Given the description of an element on the screen output the (x, y) to click on. 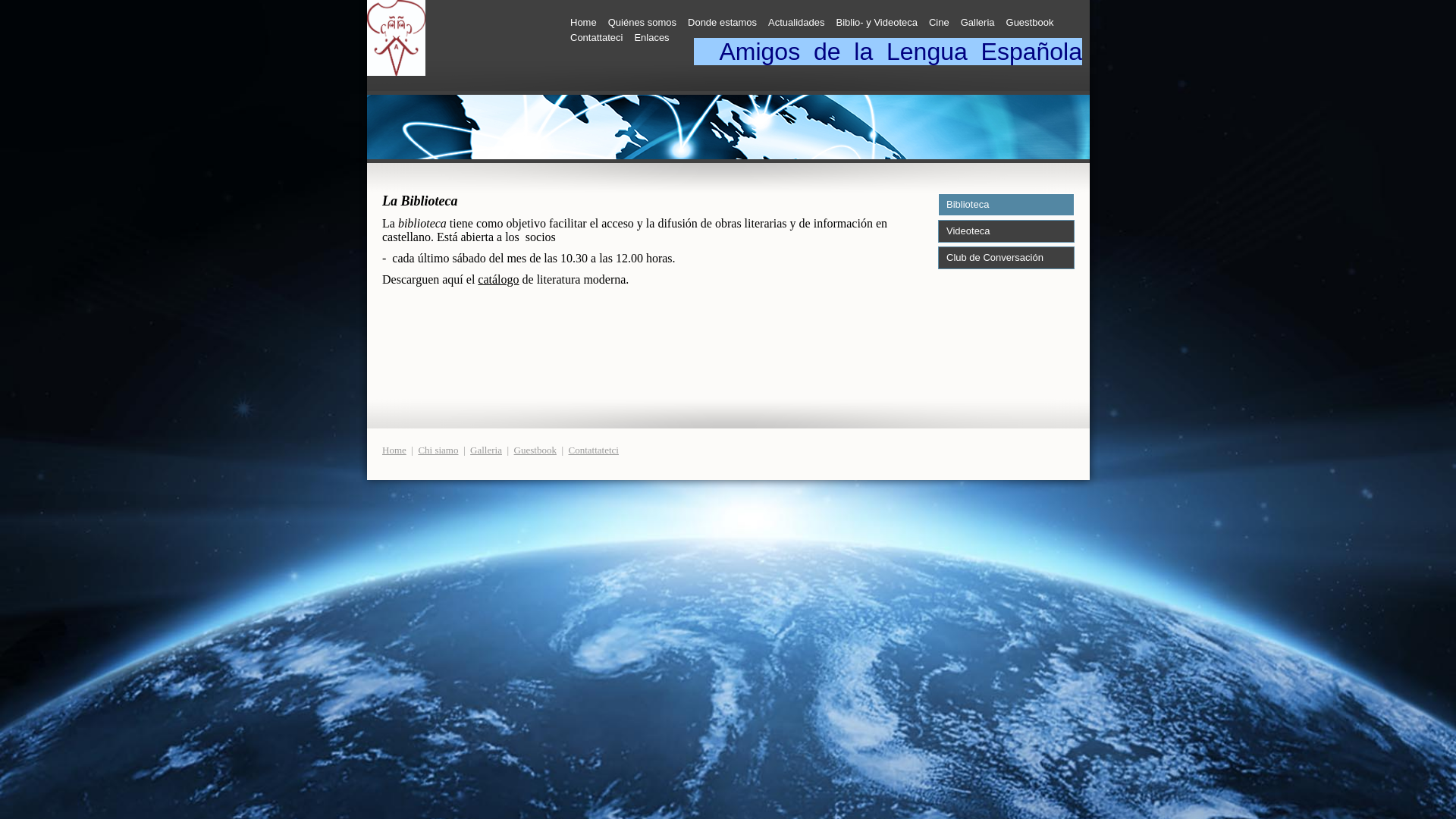
Biblioteca Element type: text (1006, 204)
Actualidades Element type: text (796, 22)
Guestbook Element type: text (1030, 22)
Videoteca Element type: text (1006, 230)
Home Element type: text (583, 22)
Chi siamo Element type: text (437, 449)
Galleria Element type: text (977, 22)
Home Element type: text (394, 449)
Guestbook Element type: text (535, 449)
Contattatetci Element type: text (593, 449)
Galleria Element type: text (486, 449)
Enlaces Element type: text (650, 37)
Biblio- y Videoteca Element type: text (876, 22)
Donde estamos Element type: text (721, 22)
Cine Element type: text (938, 22)
Contattateci Element type: text (596, 37)
